Given the description of an element on the screen output the (x, y) to click on. 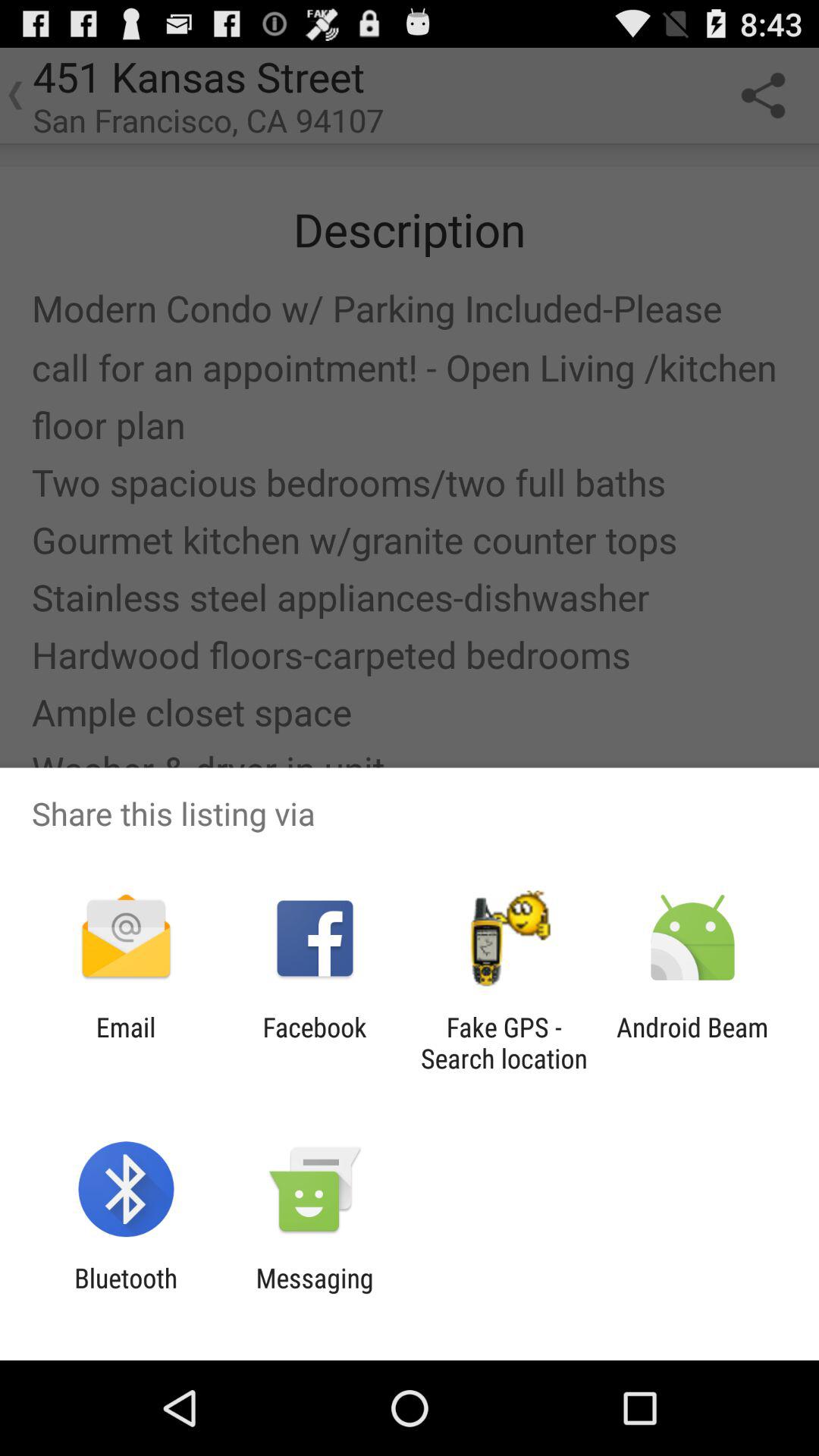
press icon to the left of fake gps search item (314, 1042)
